Given the description of an element on the screen output the (x, y) to click on. 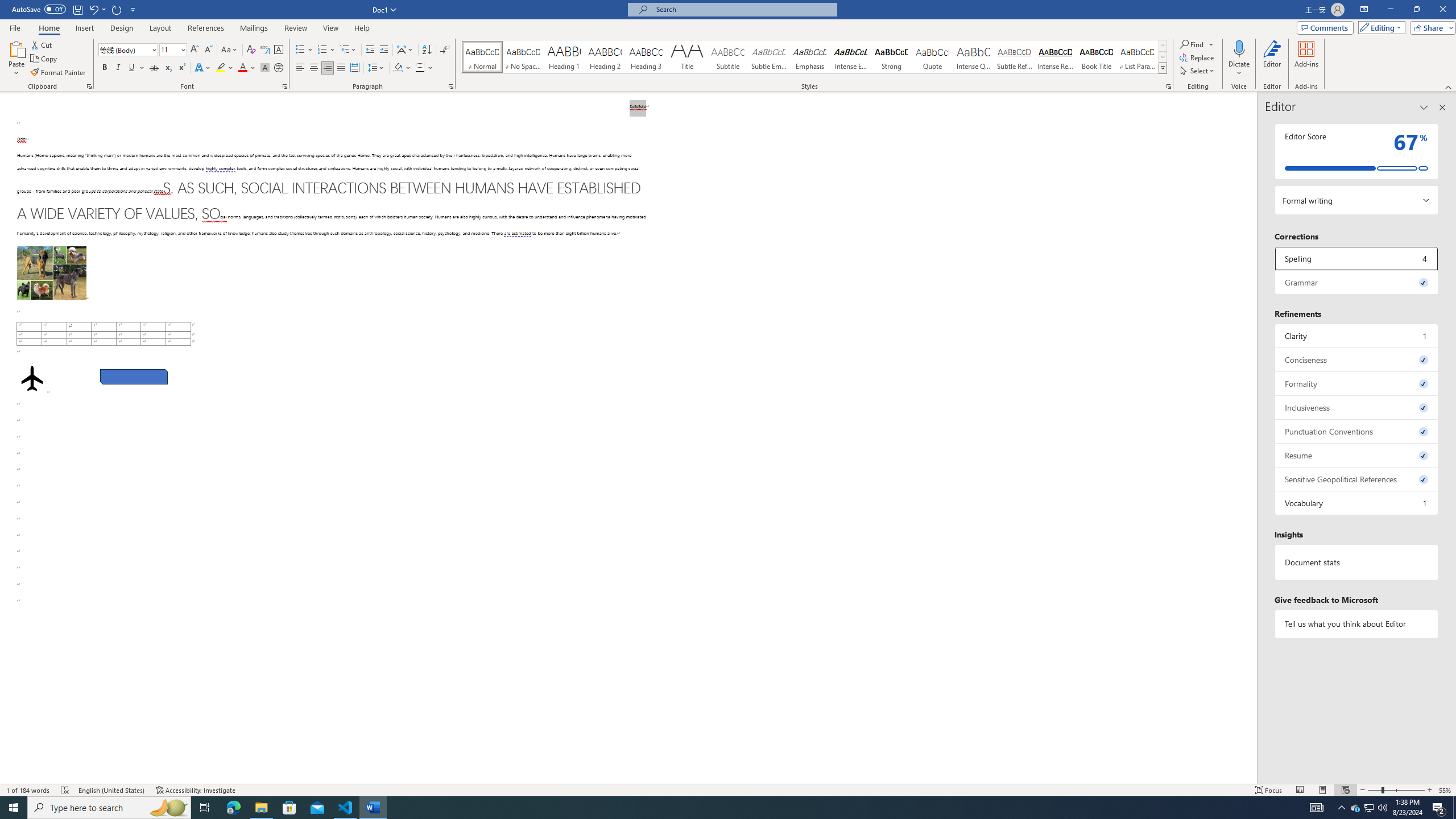
Vocabulary, 1 issue. Press space or enter to review items. (1356, 502)
Quote (932, 56)
Intense Reference (1055, 56)
Airplane with solid fill (31, 378)
